Given the description of an element on the screen output the (x, y) to click on. 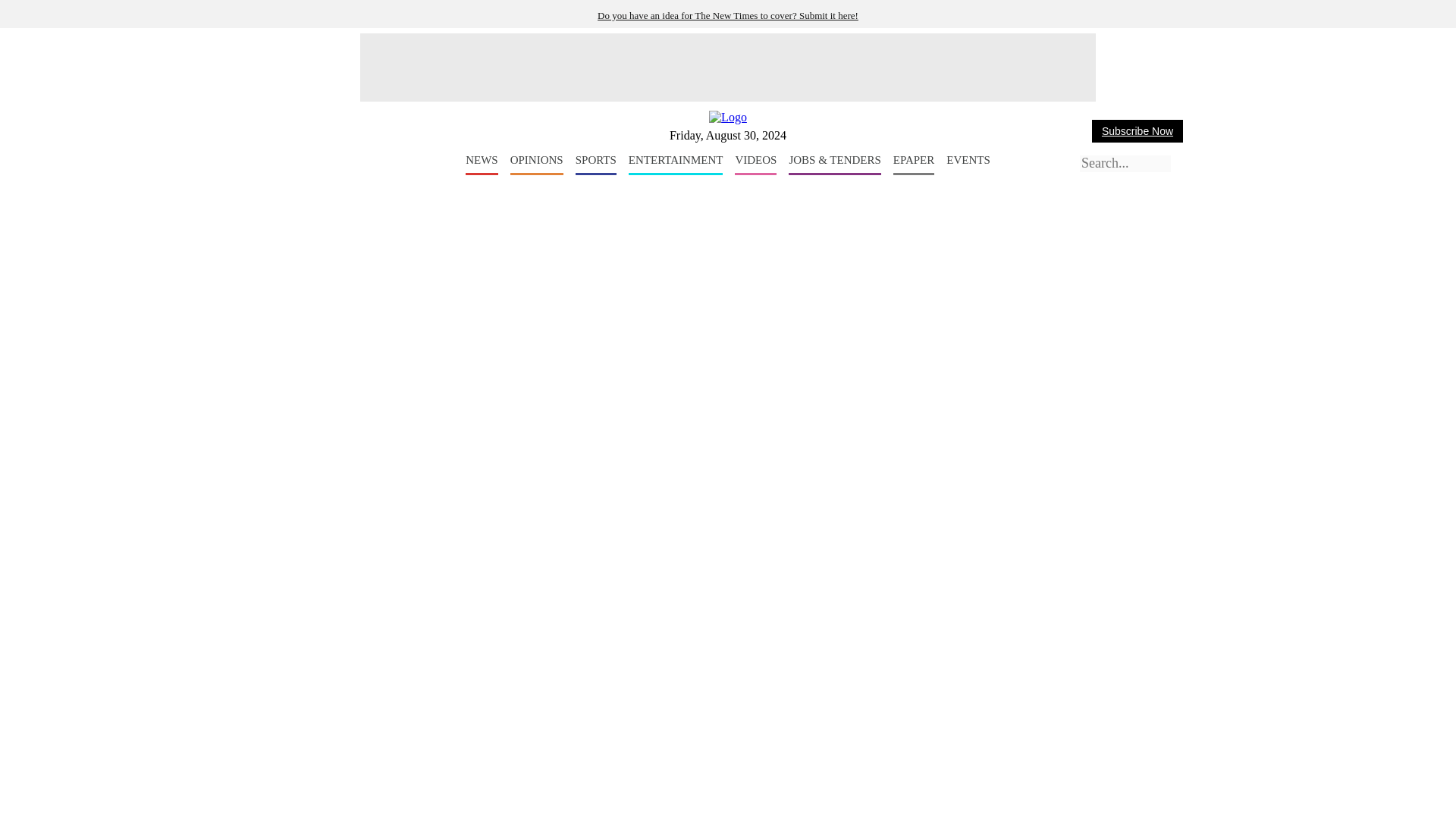
SPORTS (595, 164)
The New Times (727, 116)
Subscribe Now (1137, 130)
Submit New Ideas (727, 15)
News (481, 164)
OPINIONS (537, 164)
NEWS (481, 164)
